Given the description of an element on the screen output the (x, y) to click on. 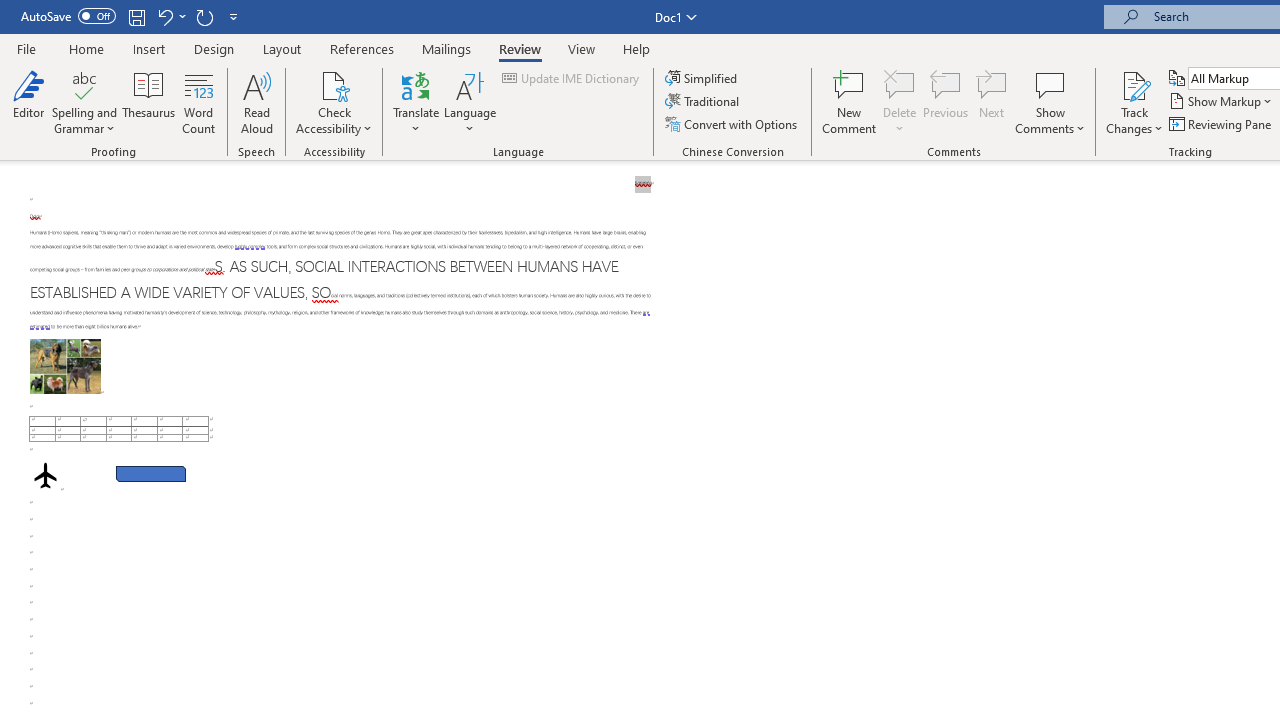
Show Comments (1050, 102)
Repeat Paragraph Alignment (204, 15)
Update IME Dictionary... (572, 78)
Editor (28, 102)
